Given the description of an element on the screen output the (x, y) to click on. 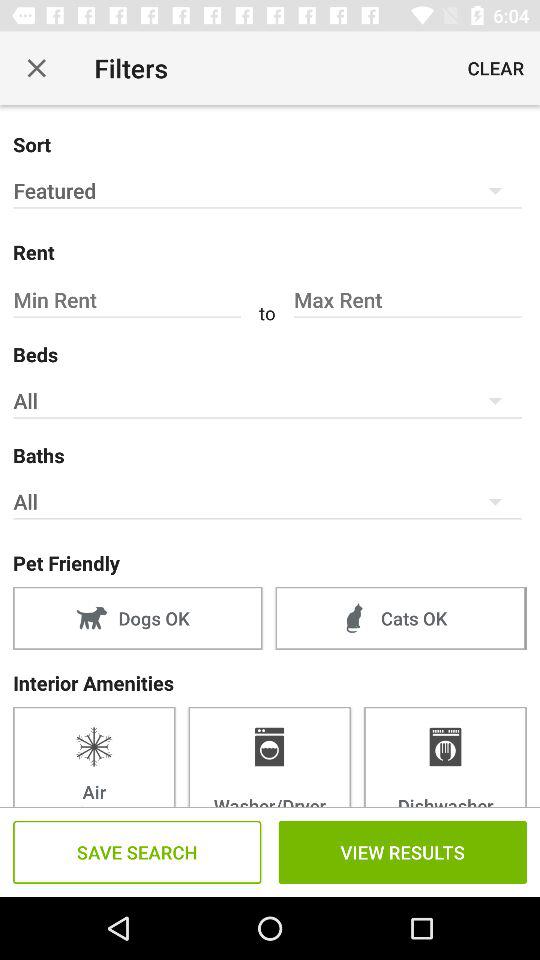
open the cats ok (400, 617)
